Given the description of an element on the screen output the (x, y) to click on. 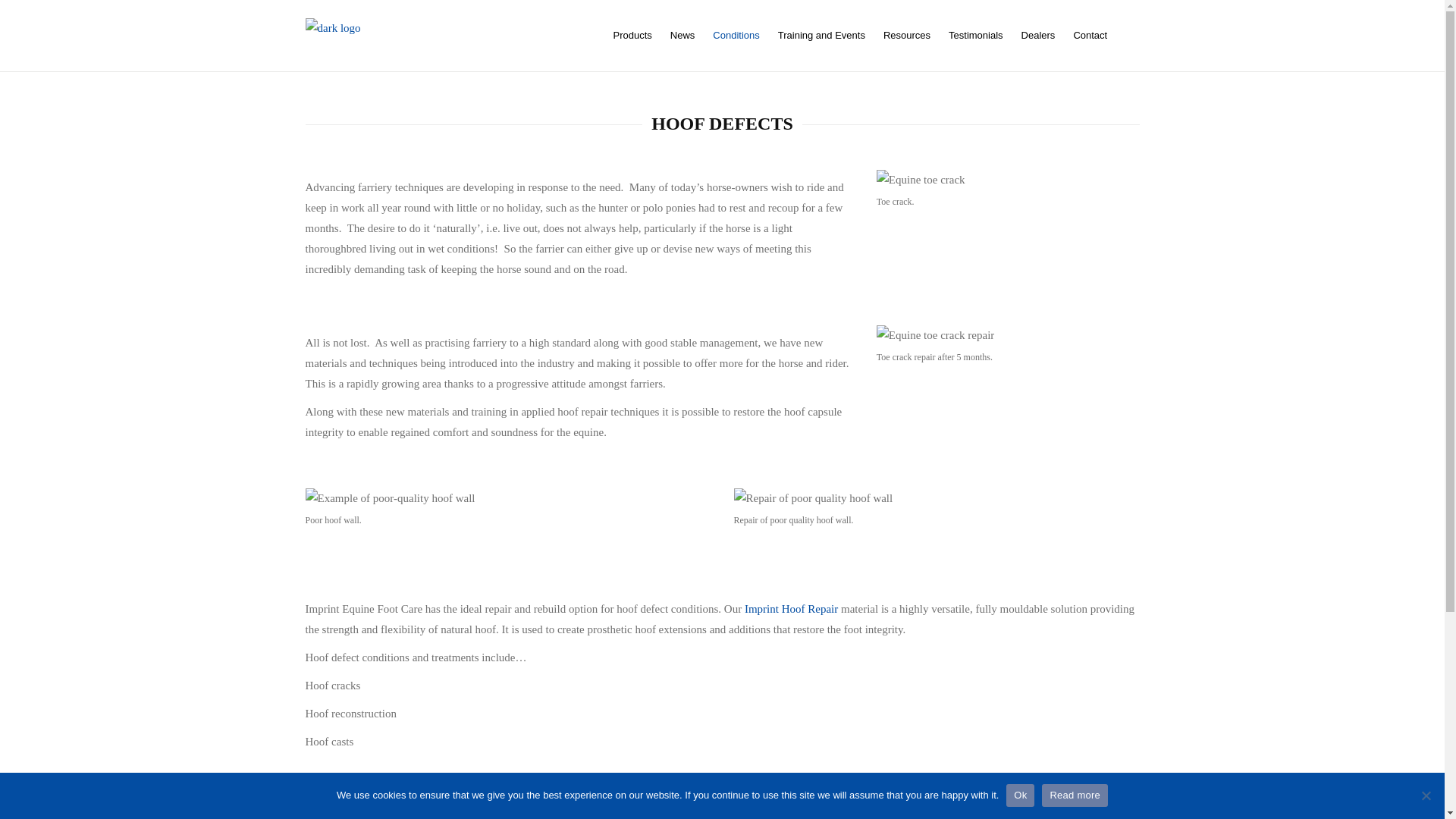
Conditions (735, 35)
Poor hoof wall (389, 498)
No (1425, 795)
Products (628, 35)
Training and Events (821, 35)
Repair of poor hoof wall (813, 498)
Resources (907, 35)
Toe crack (920, 179)
Toe crack repair (935, 335)
News (682, 35)
